Given the description of an element on the screen output the (x, y) to click on. 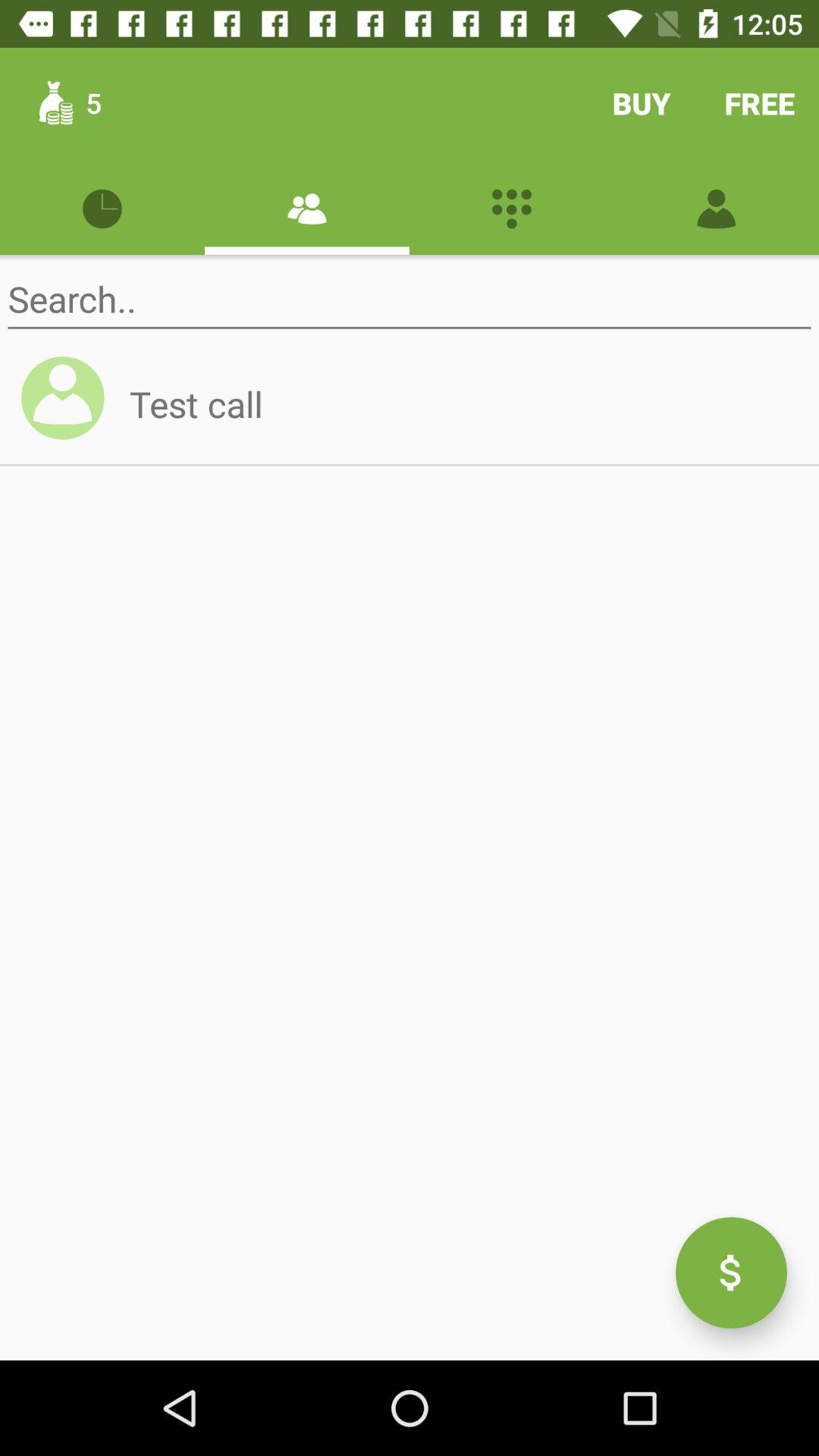
click icon to the right of buy (759, 103)
